Given the description of an element on the screen output the (x, y) to click on. 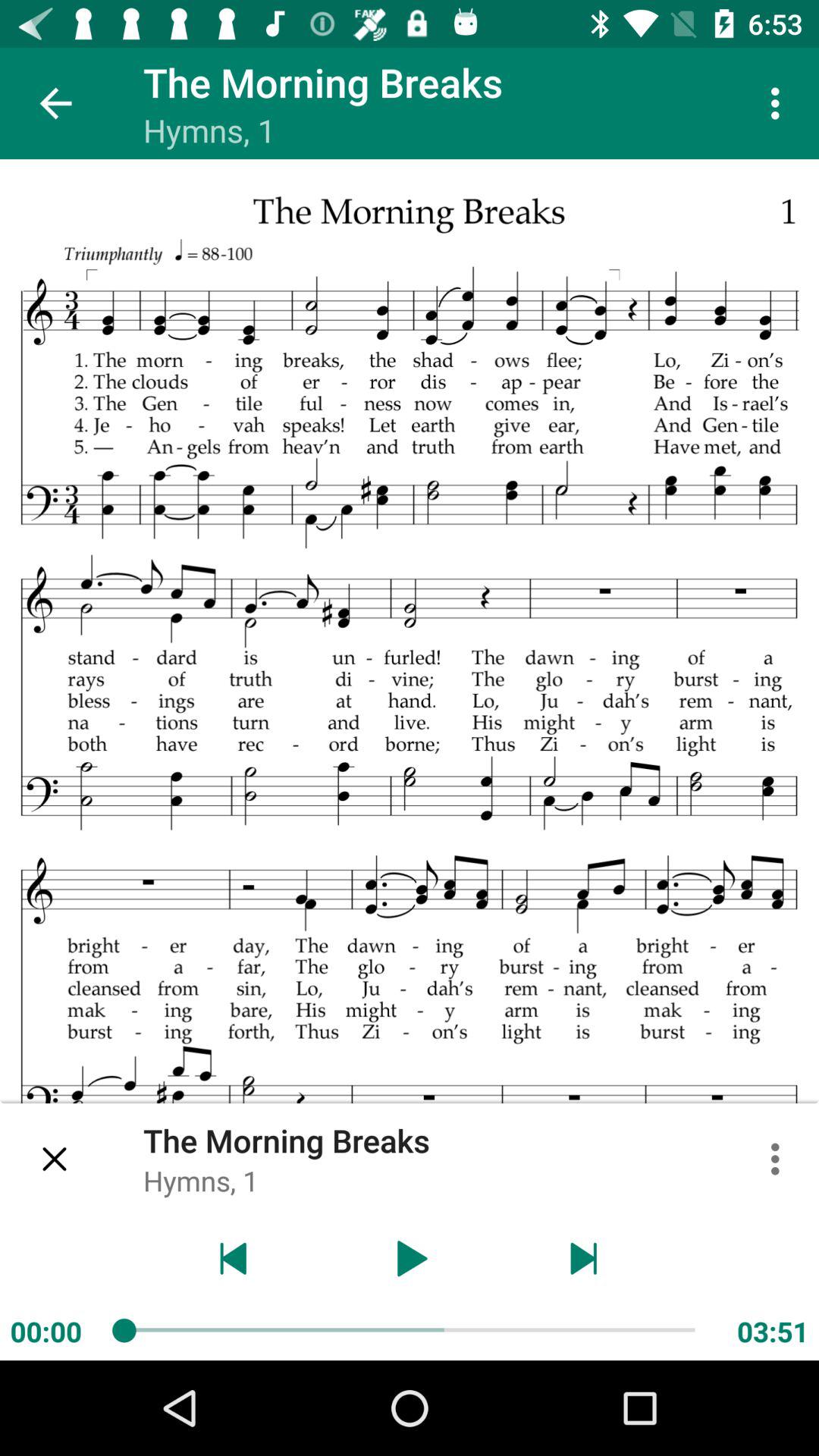
open icon next to the morning breaks icon (55, 103)
